Given the description of an element on the screen output the (x, y) to click on. 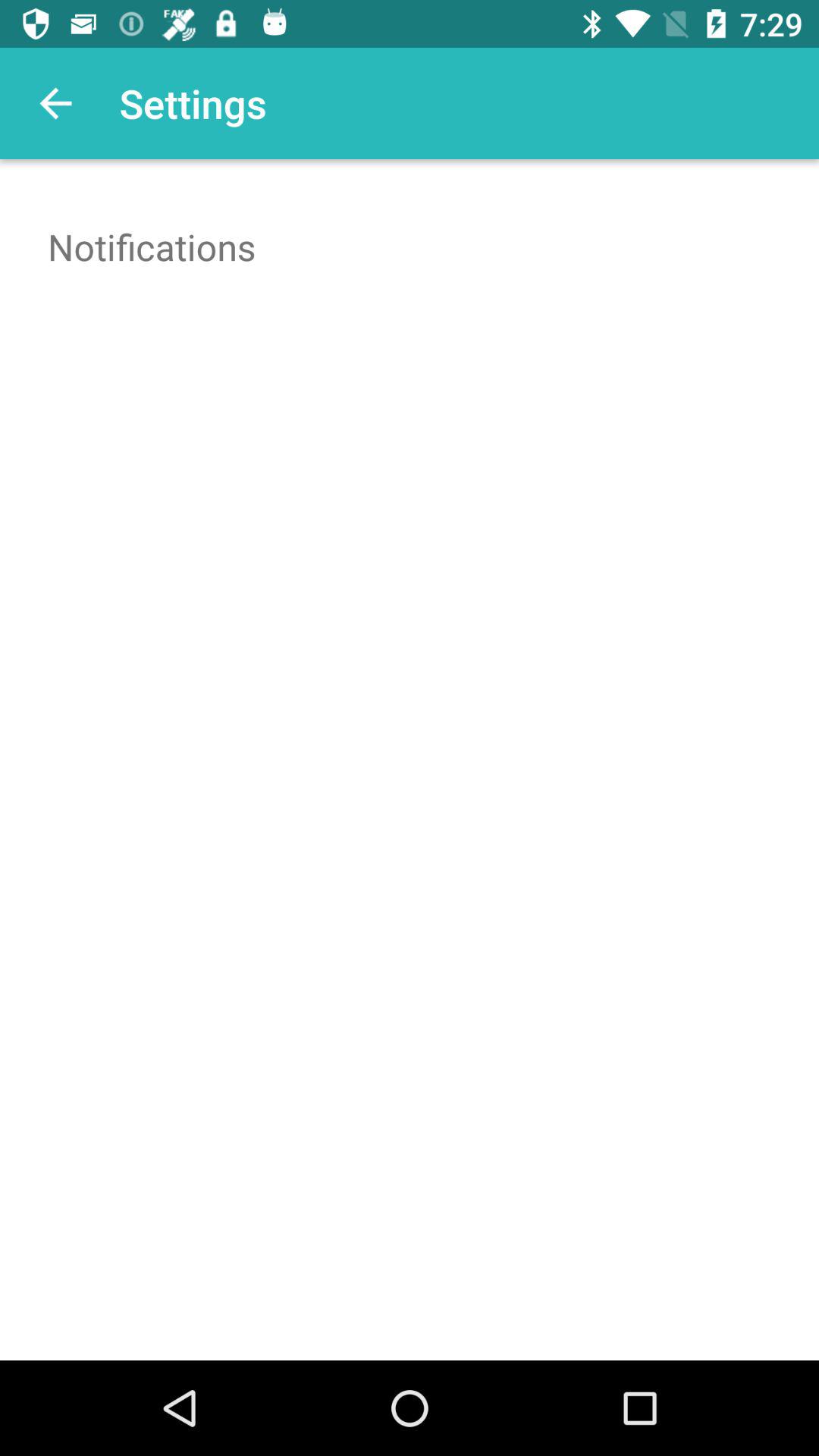
press the icon to the left of settings item (55, 103)
